Given the description of an element on the screen output the (x, y) to click on. 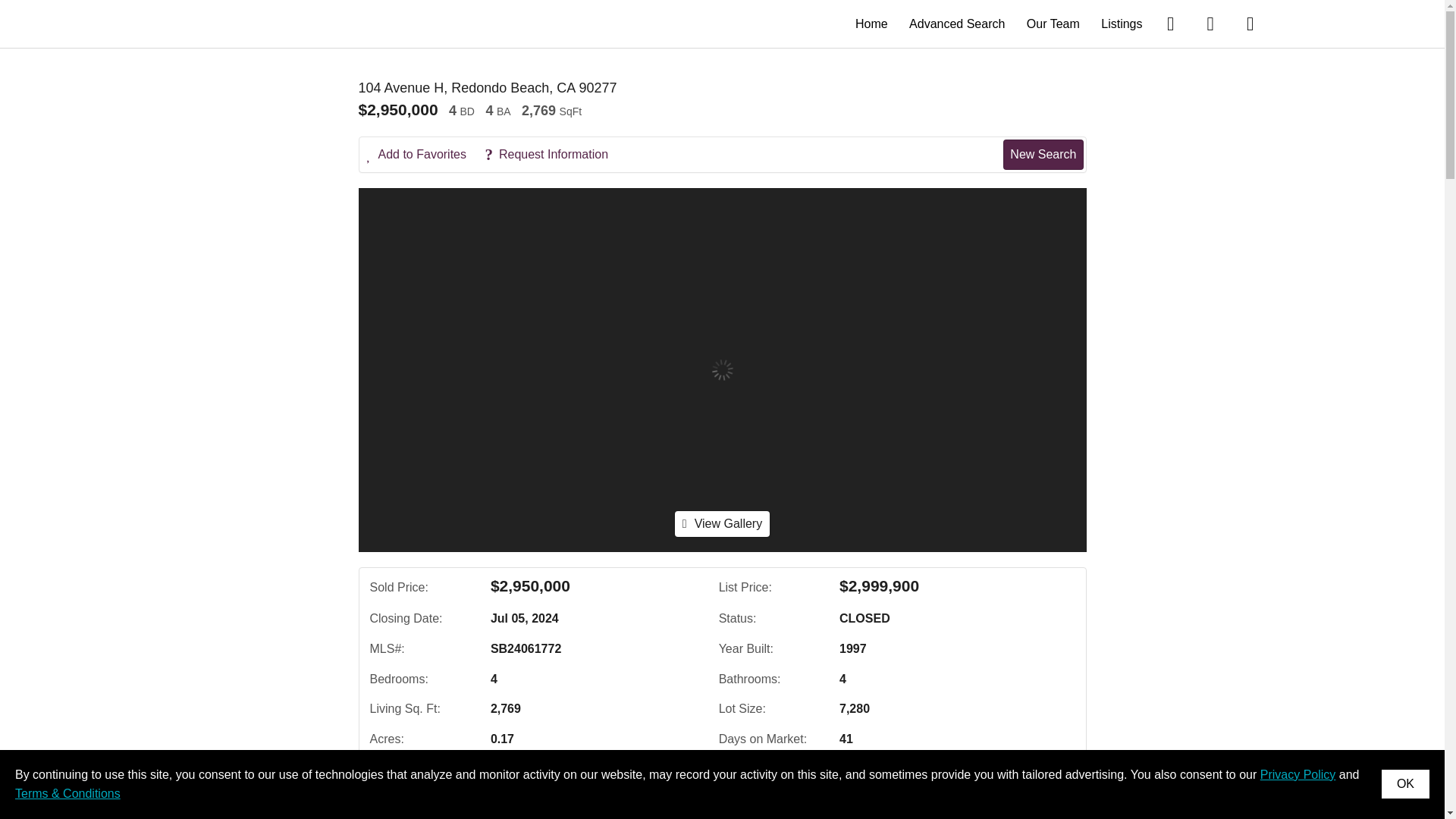
View Gallery (722, 522)
View Gallery (722, 524)
Request Information (553, 154)
Our Team (1053, 23)
Home (872, 23)
Listings (1120, 23)
Advanced Search (956, 23)
Add to Favorites (423, 154)
New Search (1043, 154)
